Given the description of an element on the screen output the (x, y) to click on. 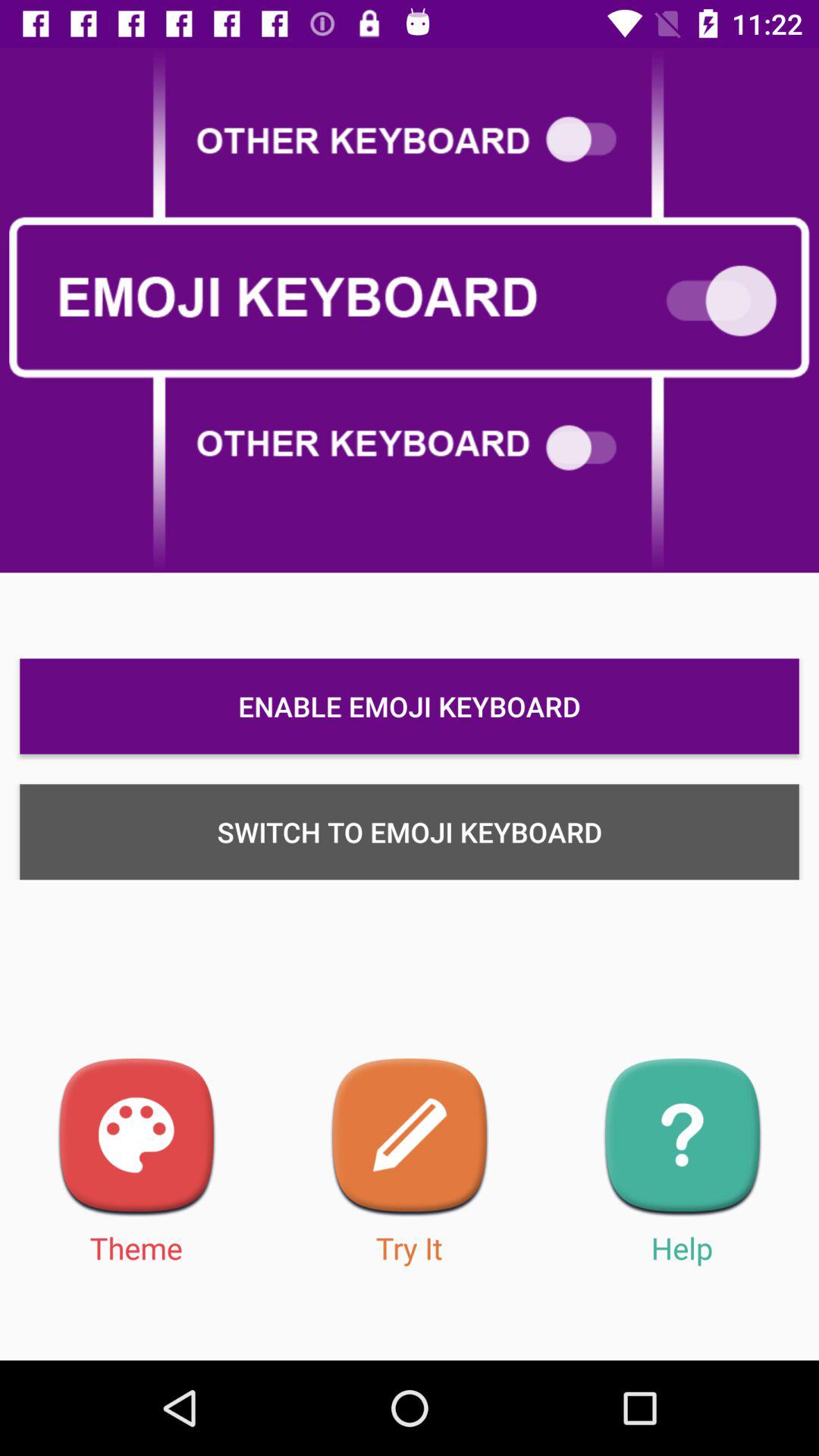
free download emoji keyboard and share your feeling with your friends through social groups and sms (409, 1137)
